Given the description of an element on the screen output the (x, y) to click on. 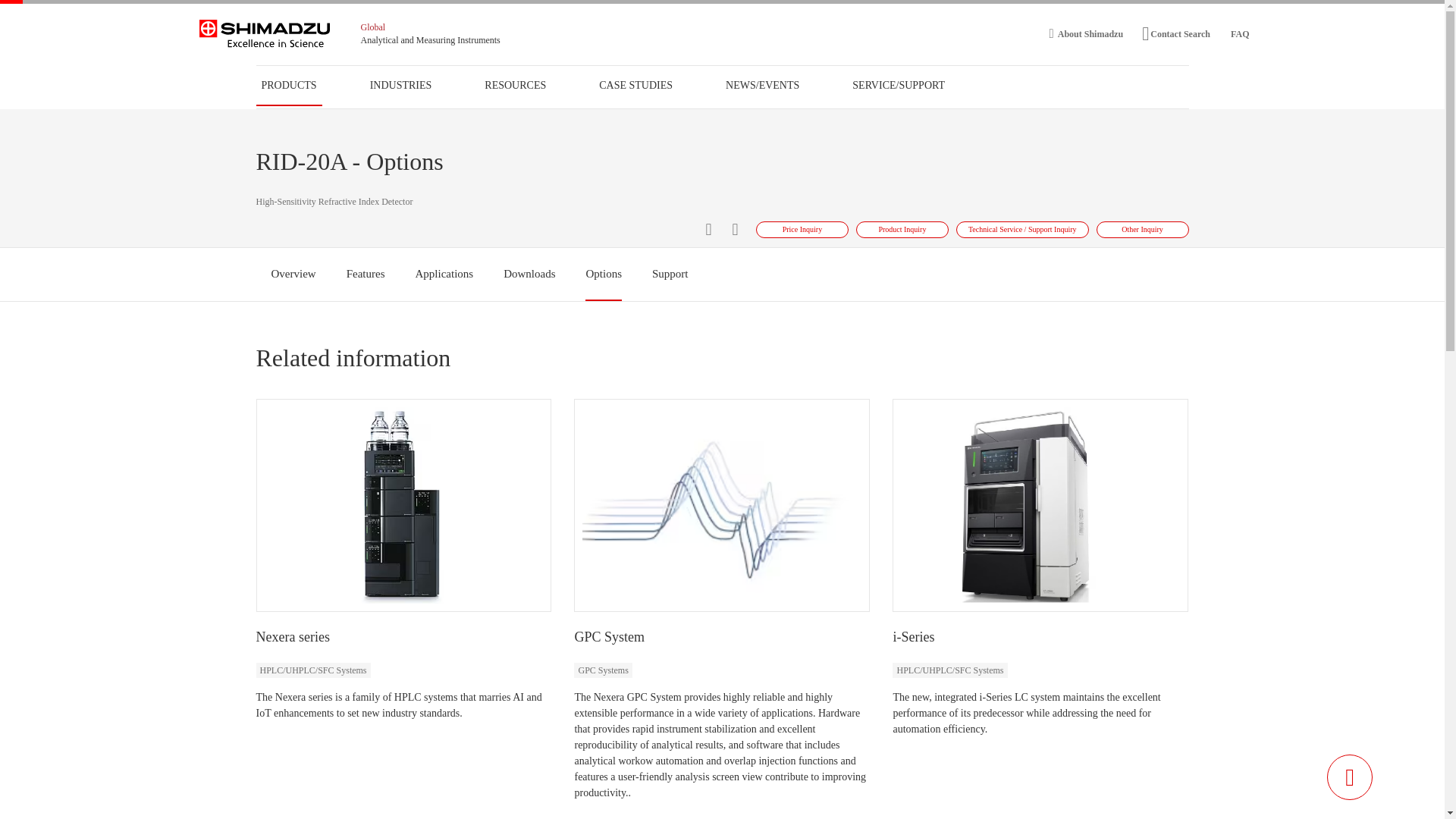
GPC System (609, 637)
Price Inquiry (801, 229)
Global (373, 26)
Nexera series (293, 637)
Contact Search (1175, 33)
CASE STUDIES (635, 84)
Other Inquiry (1142, 229)
About Shimadzu (1086, 33)
Analytical and Measuring Instruments (430, 40)
Downloads (528, 273)
